Given the description of an element on the screen output the (x, y) to click on. 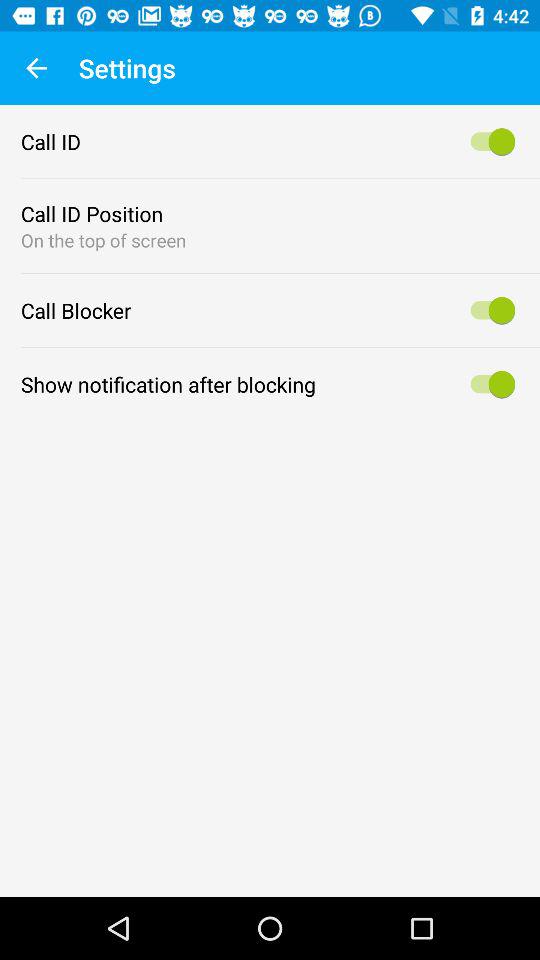
turn off notification (489, 383)
